Given the description of an element on the screen output the (x, y) to click on. 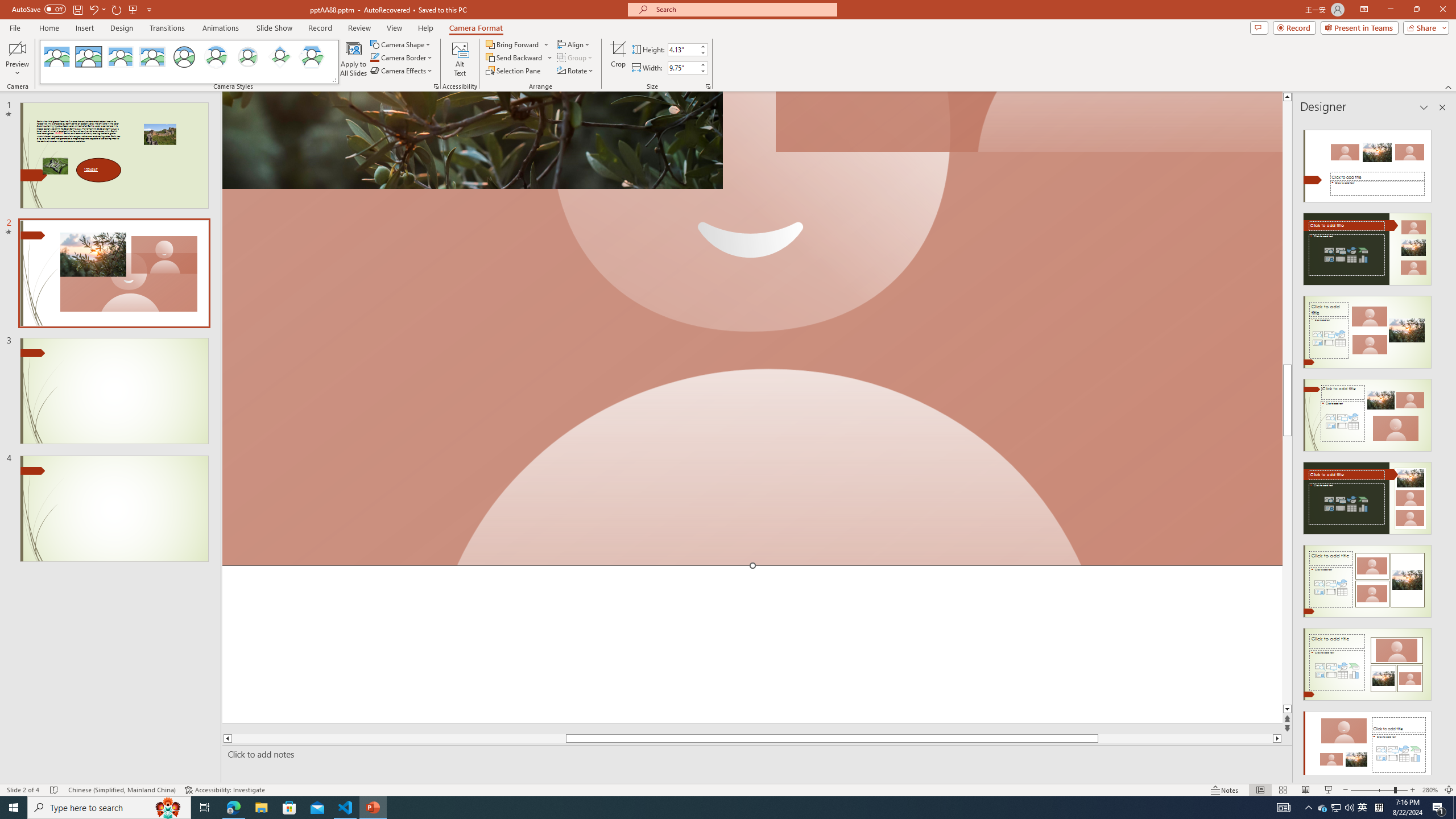
Size and Position... (707, 85)
Microsoft Edge - 1 running window (233, 807)
Rotate (575, 69)
Camera Border Teal, Accent 1 (374, 56)
